Given the description of an element on the screen output the (x, y) to click on. 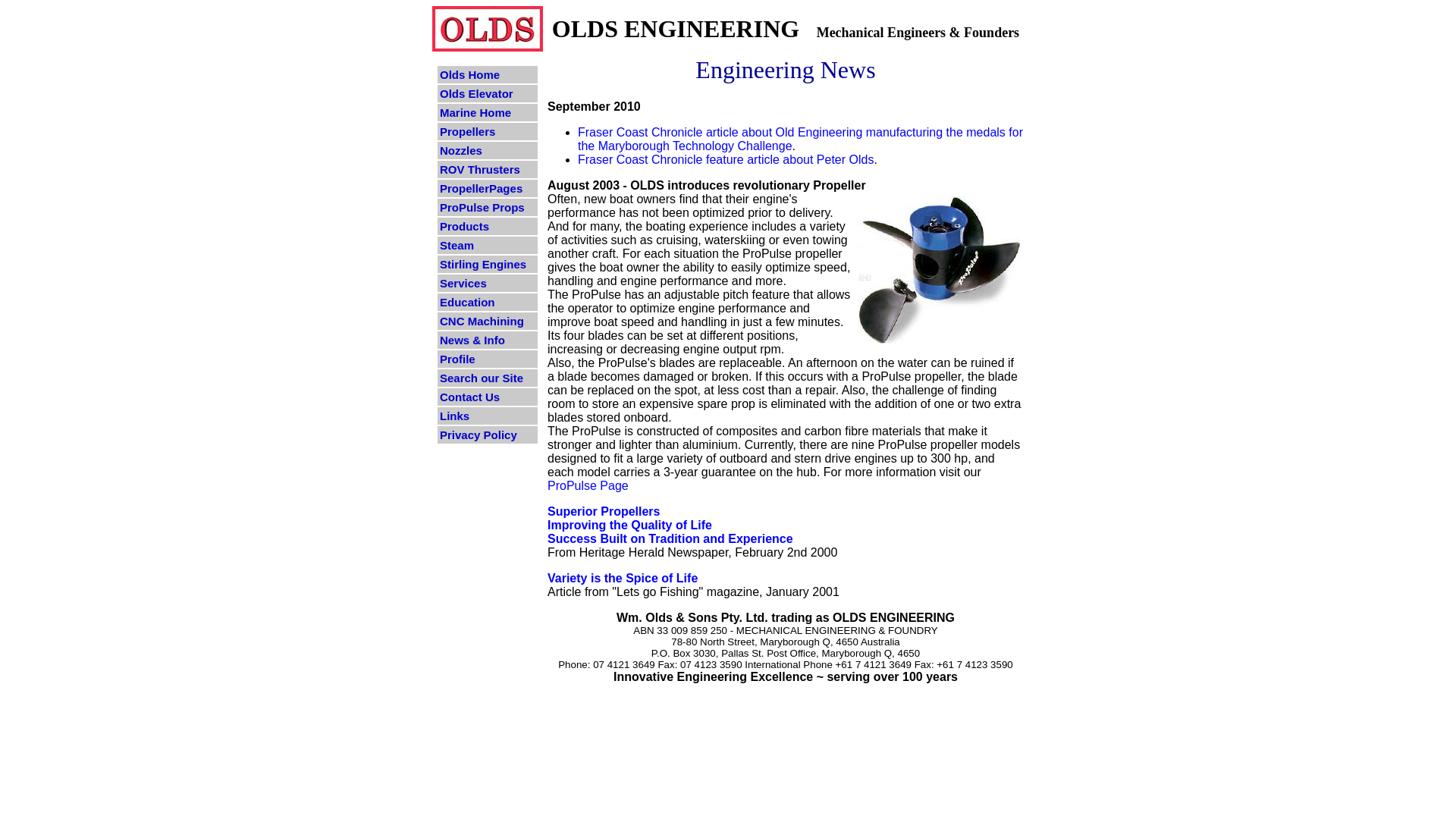
Education Element type: text (487, 301)
Success Built on Tradition and Experience Element type: text (670, 538)
Variety is the Spice of Life Element type: text (622, 577)
ProPulse Page Element type: text (587, 485)
Search our Site Element type: text (487, 377)
Superior Propellers Element type: text (603, 511)
Products Element type: text (487, 226)
News & Info Element type: text (487, 339)
Nozzles Element type: text (487, 150)
Contact Us Element type: text (487, 396)
Olds Elevator Element type: text (487, 93)
Olds Home Element type: text (487, 74)
Privacy Policy Element type: text (487, 434)
Profile Element type: text (487, 358)
PropellerPages Element type: text (487, 188)
ROV Thrusters Element type: text (487, 169)
Propellers Element type: text (487, 131)
Steam Element type: text (487, 245)
ProPulse Props Element type: text (487, 207)
Services Element type: text (487, 282)
Fraser Coast Chronicle feature article about Peter Olds Element type: text (725, 159)
Links Element type: text (487, 415)
Marine Home Element type: text (487, 112)
Stirling Engines Element type: text (487, 264)
Improving the Quality of Life Element type: text (629, 531)
CNC Machining Element type: text (487, 320)
